Given the description of an element on the screen output the (x, y) to click on. 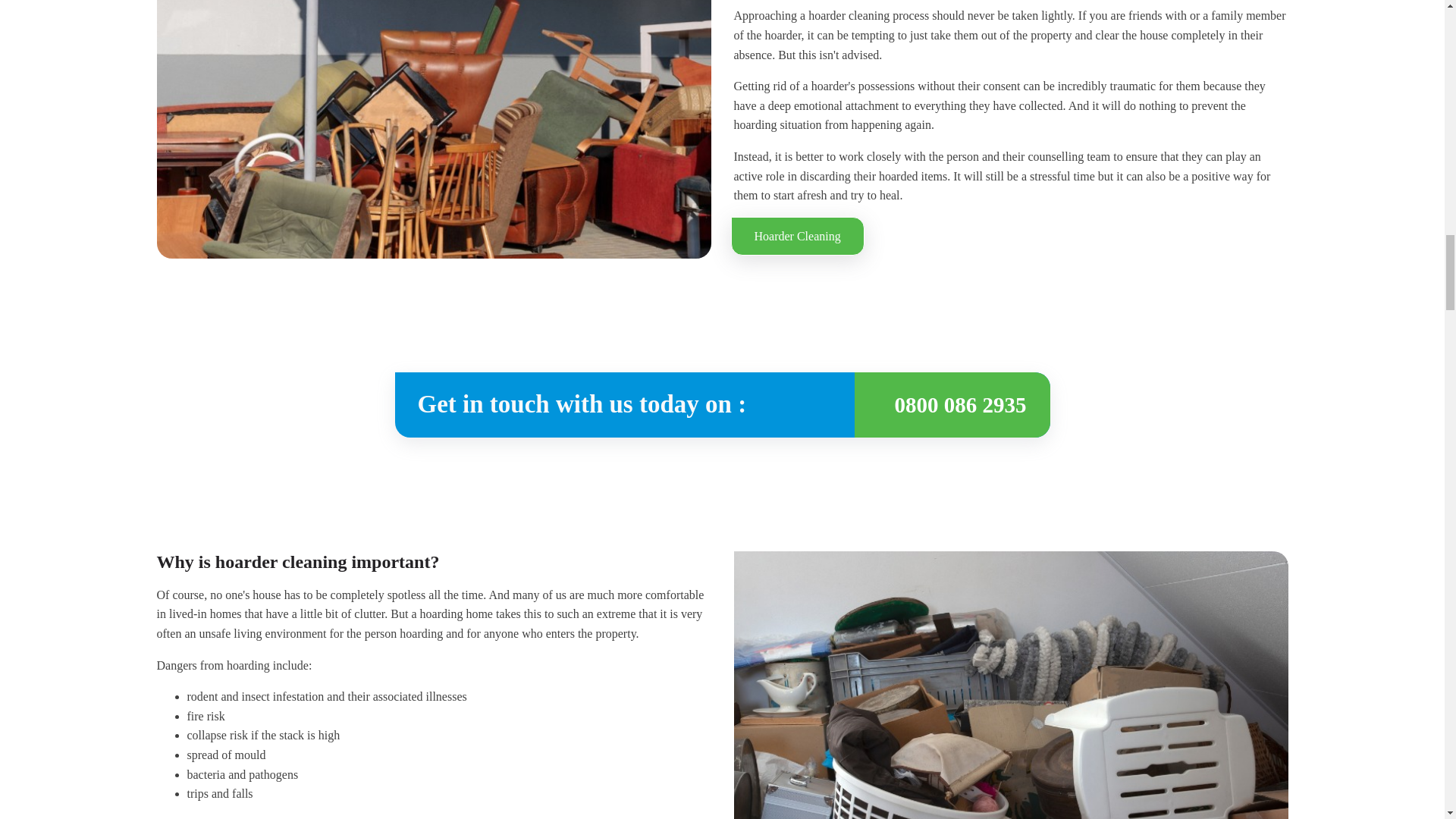
Hoarder Cleaning (797, 236)
0800 086 2935 (960, 404)
